Given the description of an element on the screen output the (x, y) to click on. 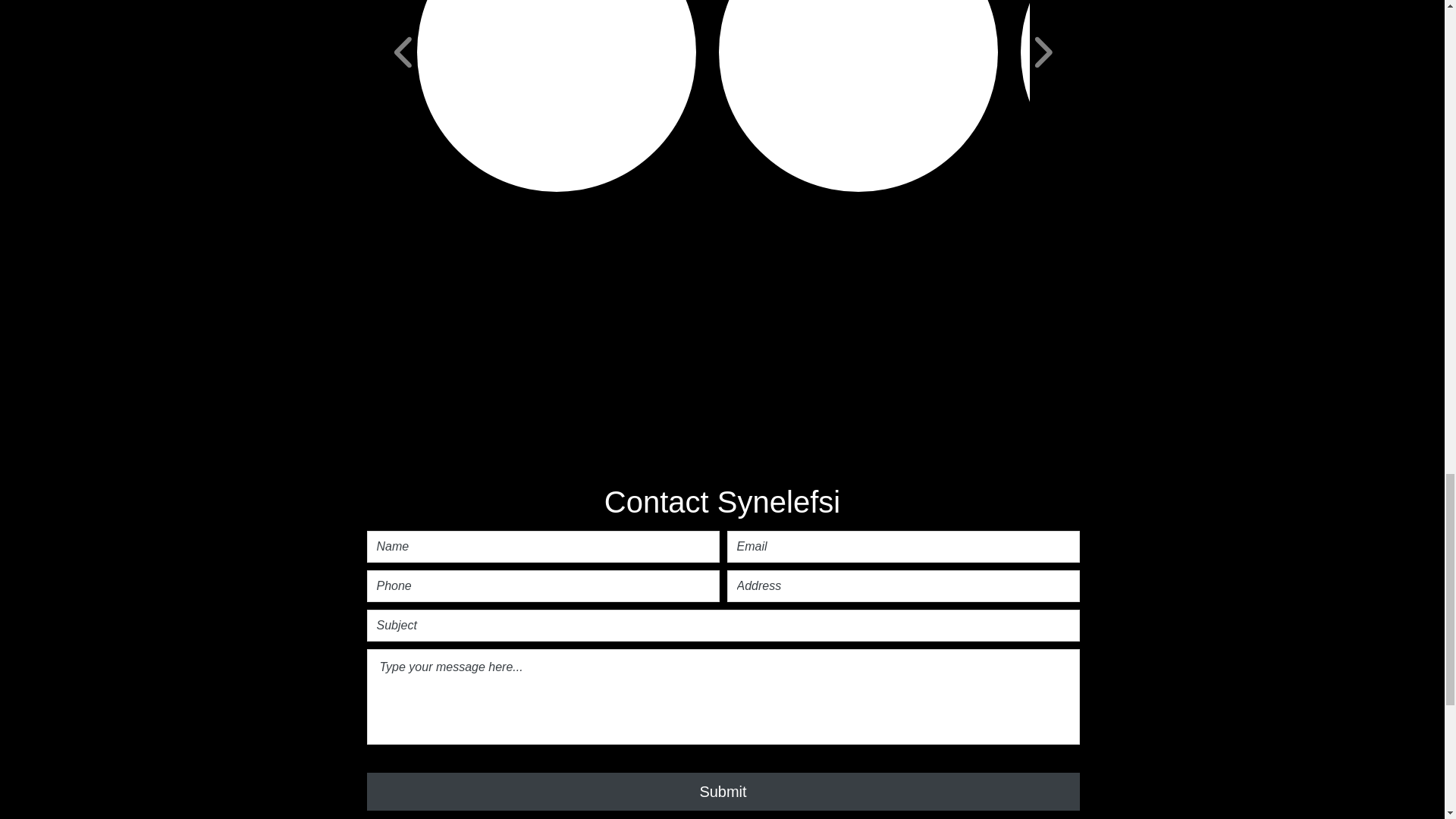
Submit (723, 791)
